Given the description of an element on the screen output the (x, y) to click on. 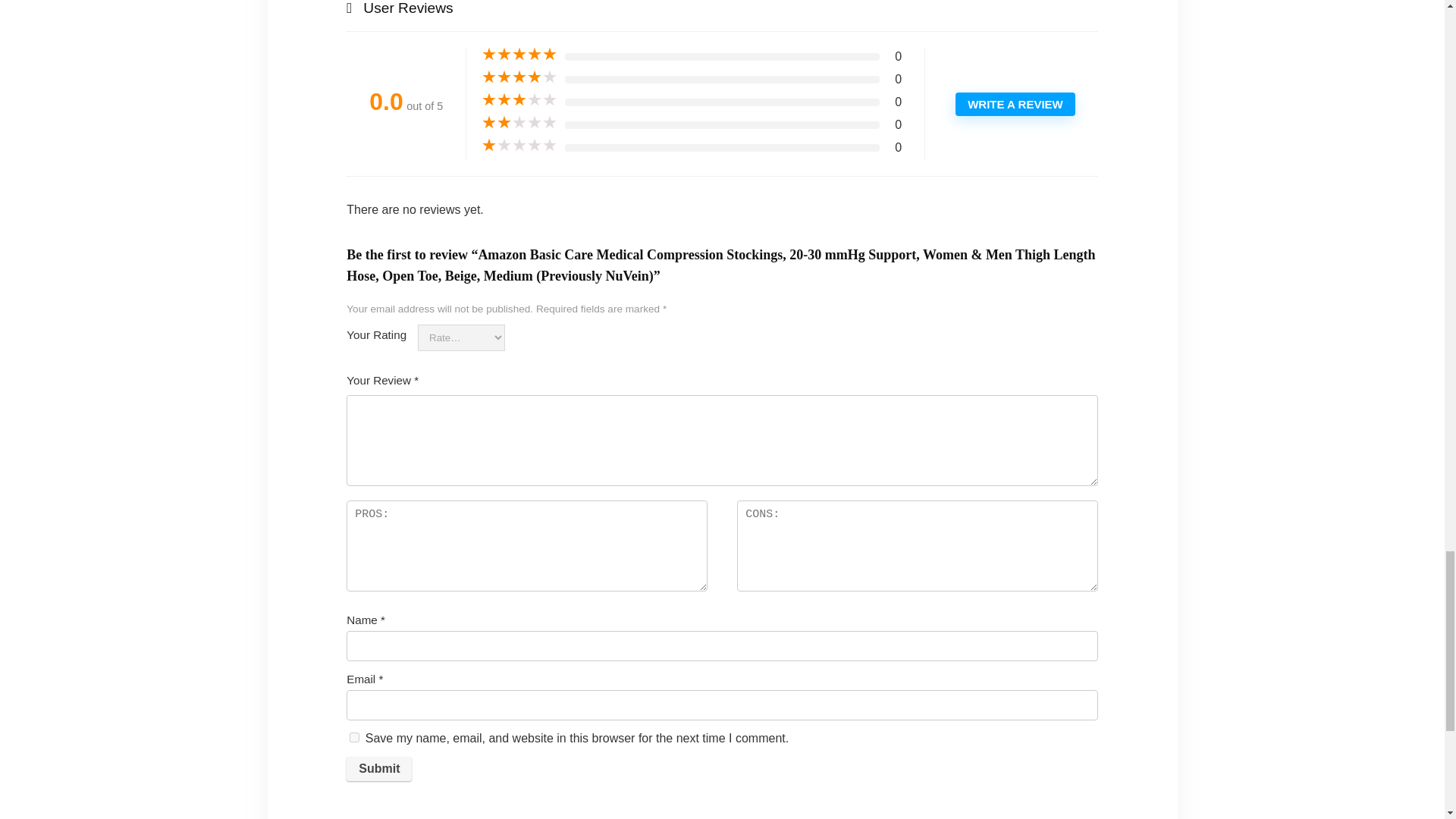
Rated 3 out of 5 (519, 99)
Rated 4 out of 5 (519, 77)
Rated 5 out of 5 (519, 54)
Submit (379, 768)
WRITE A REVIEW (1015, 104)
yes (354, 737)
